Given the description of an element on the screen output the (x, y) to click on. 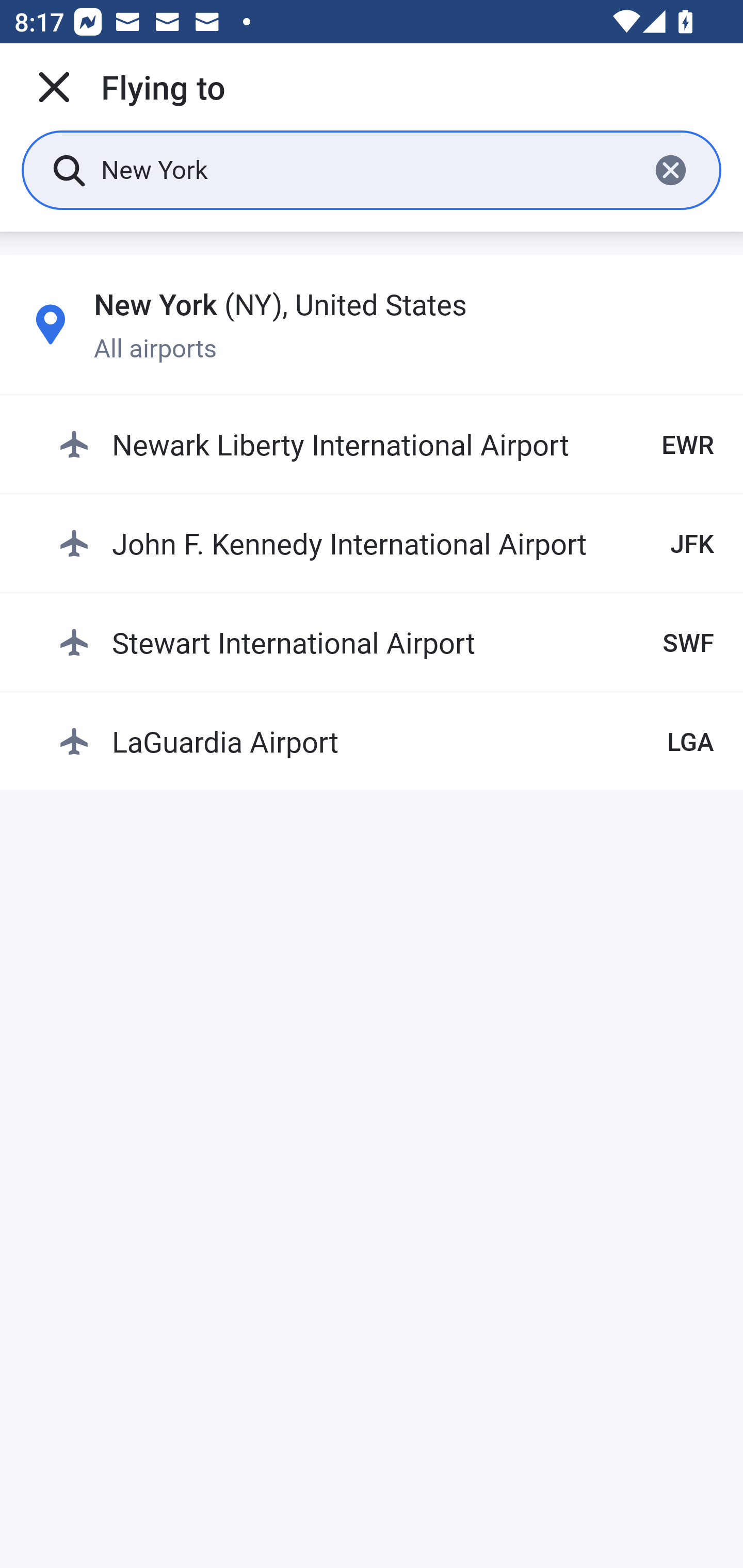
New York (367, 169)
New York (NY), United States All airports (371, 324)
Newark Liberty International Airport EWR (385, 444)
John F. Kennedy International Airport JFK (385, 543)
Stewart International Airport SWF (385, 641)
LaGuardia Airport LGA (385, 740)
